Given the description of an element on the screen output the (x, y) to click on. 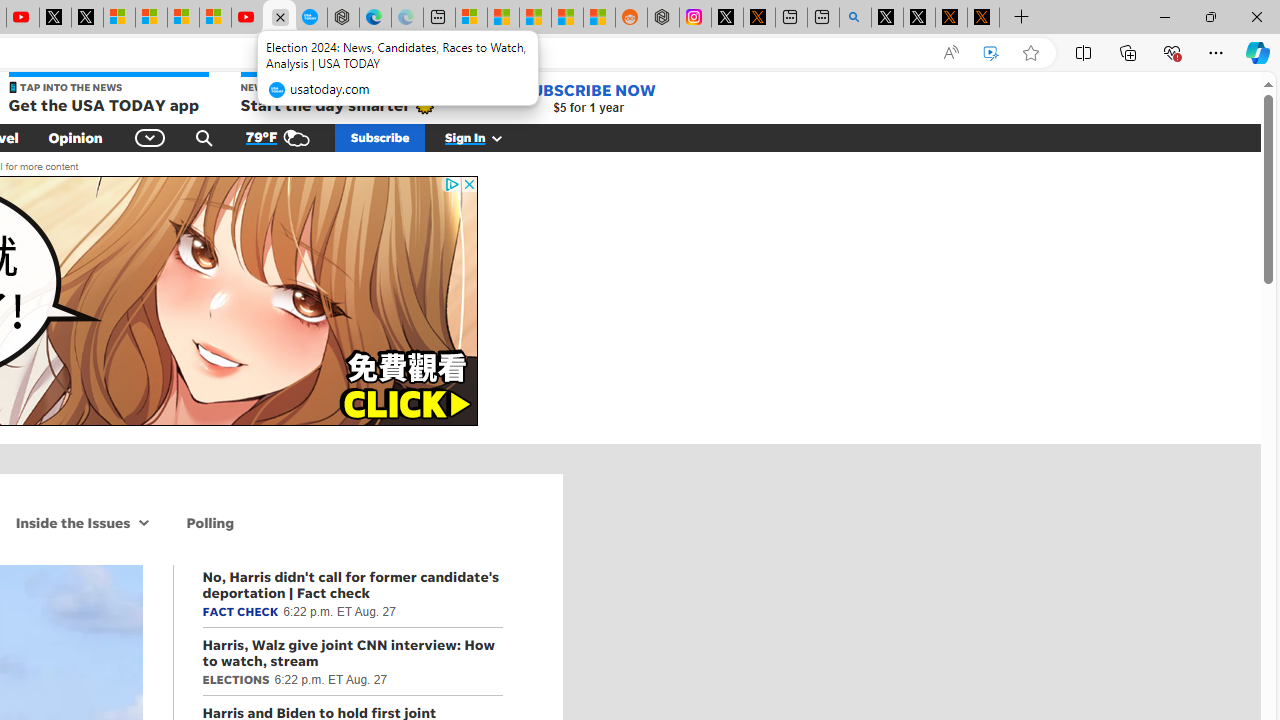
SUBSCRIBE NOW $5 for 1 year (588, 97)
Enhance video (991, 53)
Gloom - YouTube (246, 17)
The most popular Google 'how to' searches (310, 17)
Class: privacy_out (450, 184)
GitHub (@github) / X (919, 17)
Inside the Issues (69, 521)
Nordace - Nordace has arrived Hong Kong (343, 17)
help.x.com | 524: A timeout occurred (758, 17)
